Given the description of an element on the screen output the (x, y) to click on. 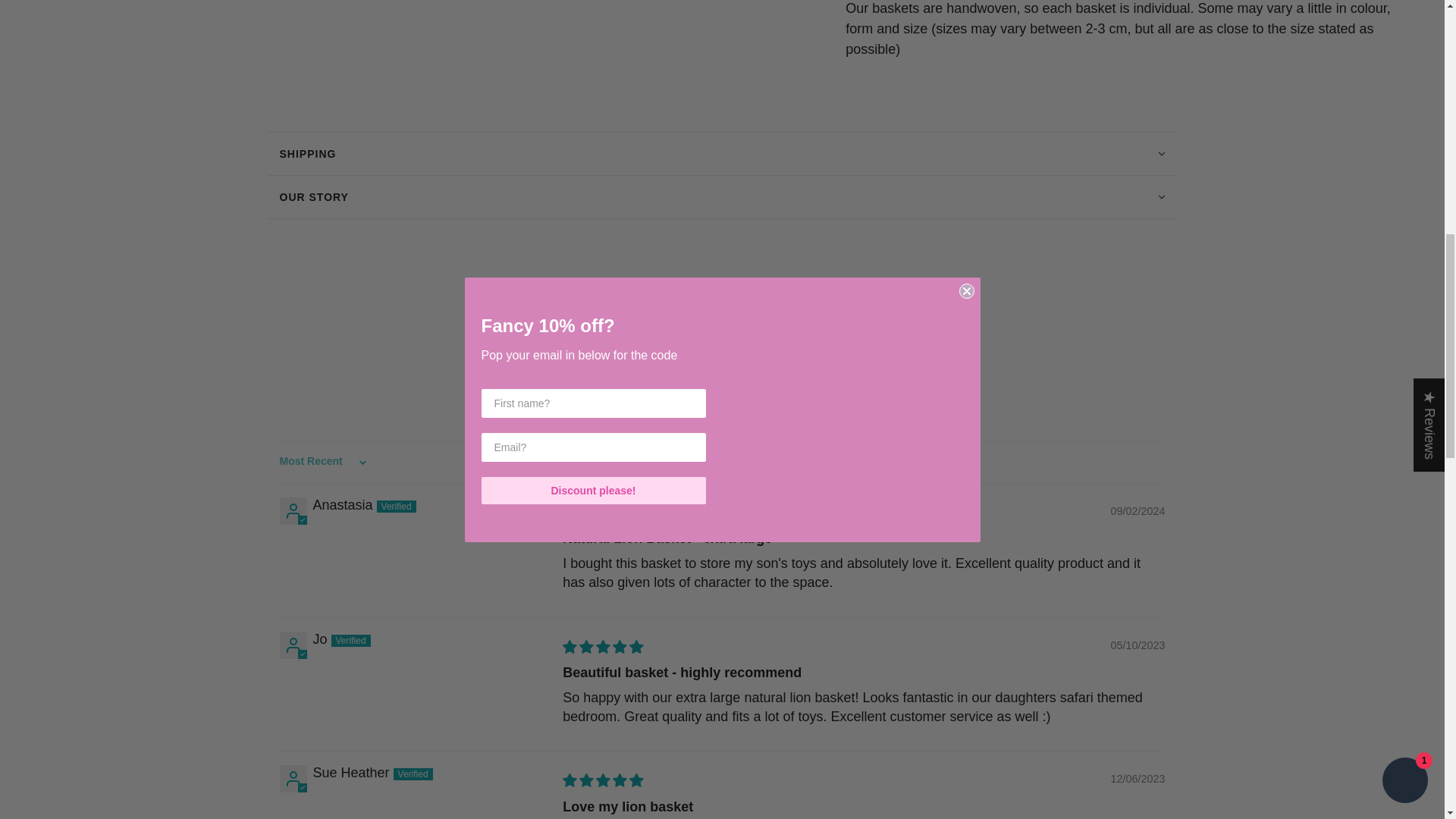
SHIPPING (721, 153)
5.00 out of 5 (585, 369)
OUR STORY (721, 197)
